Given the description of an element on the screen output the (x, y) to click on. 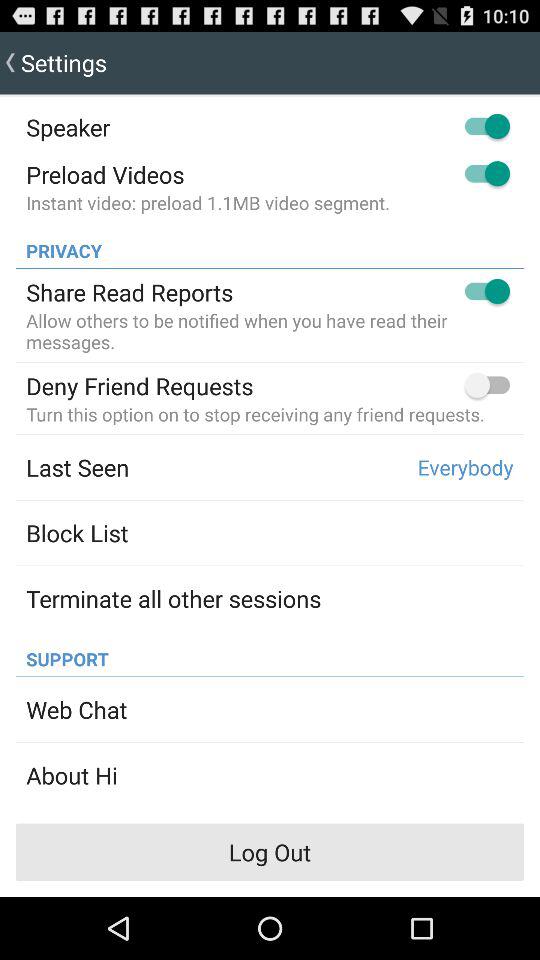
turn on item below the about hi item (269, 852)
